Given the description of an element on the screen output the (x, y) to click on. 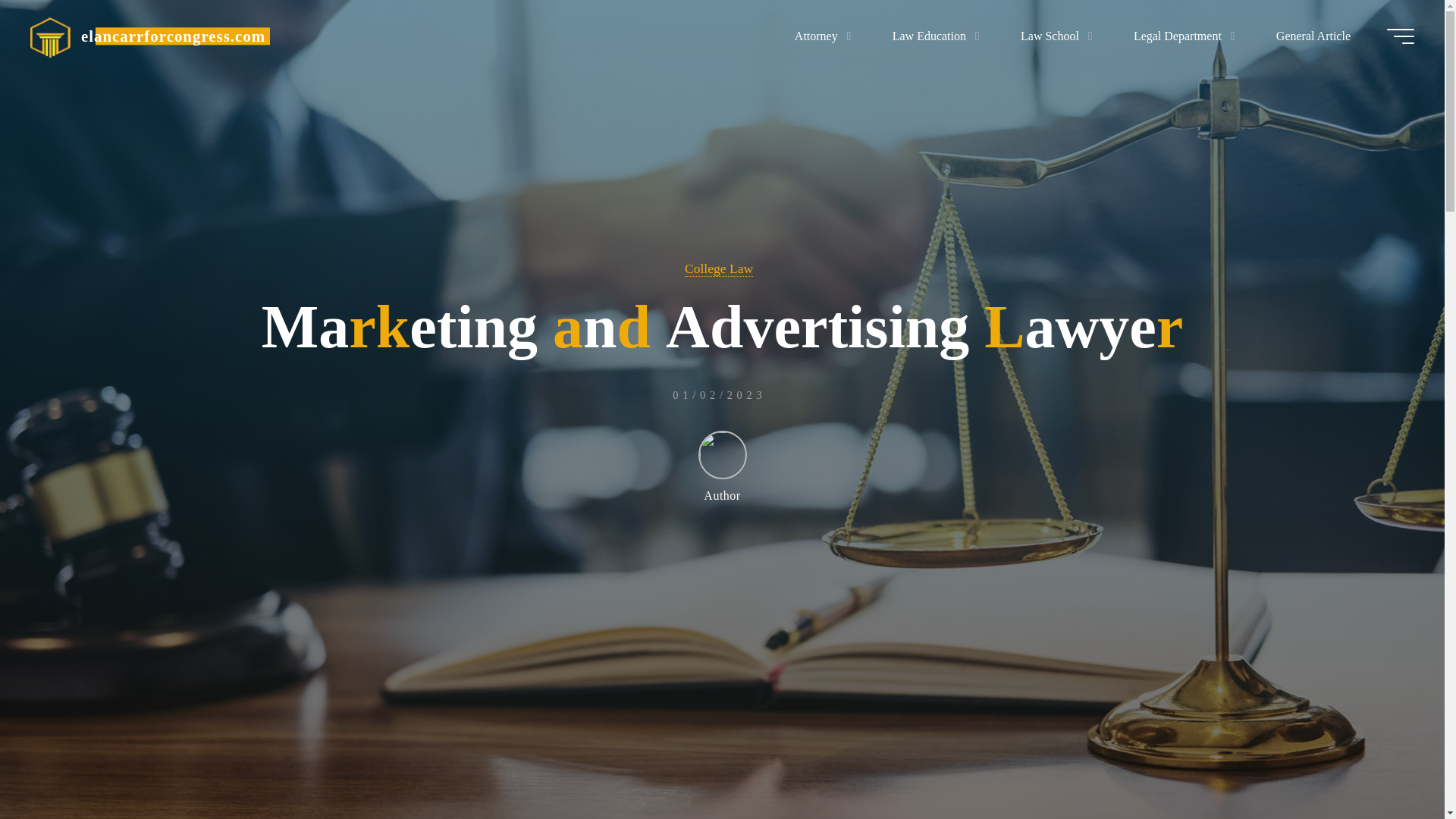
elancarrforcongress.com (173, 36)
elancarrforcongress.com (49, 35)
General Article (1313, 35)
Law Education (931, 35)
Read more (721, 724)
Law School (1052, 35)
Legal Department (1180, 35)
Law For Education (173, 36)
Attorney (818, 35)
College Law (718, 268)
